Given the description of an element on the screen output the (x, y) to click on. 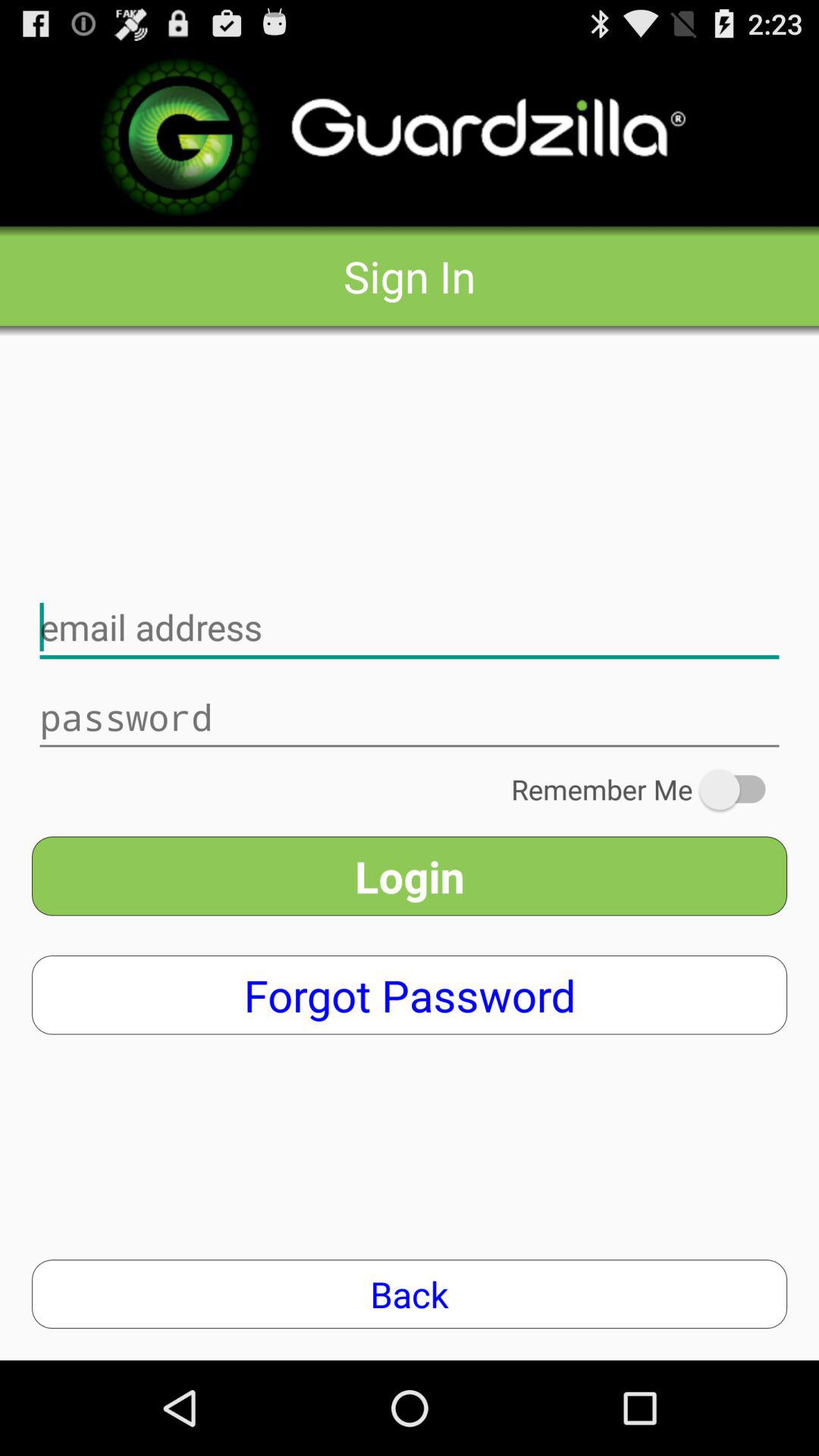
password text box (409, 717)
